Given the description of an element on the screen output the (x, y) to click on. 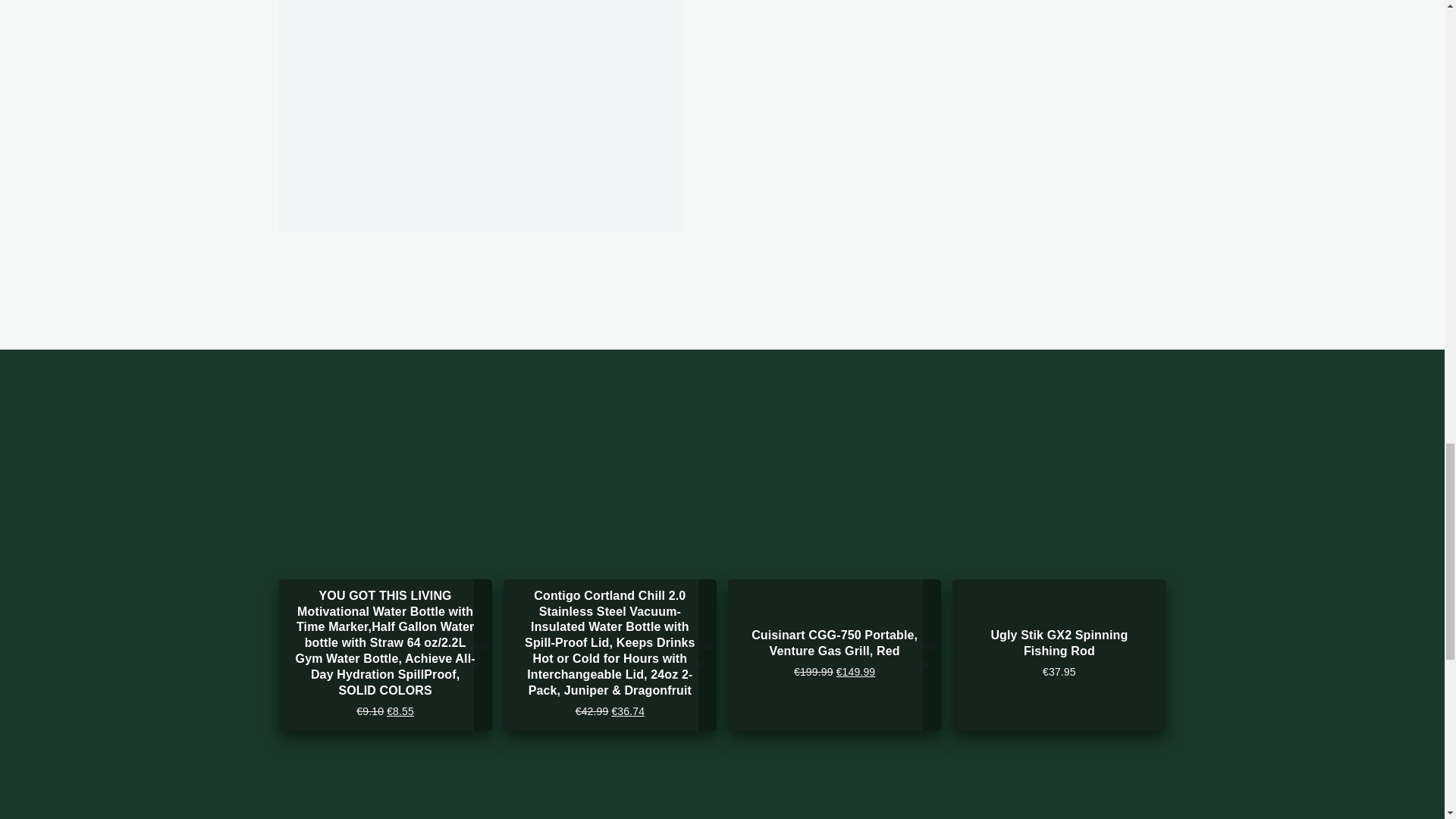
Cuisinart CGG-750 Portable, Venture Gas Grill, Red (834, 642)
Ugly Stik GX2 Spinning Fishing Rod (1058, 642)
